Given the description of an element on the screen output the (x, y) to click on. 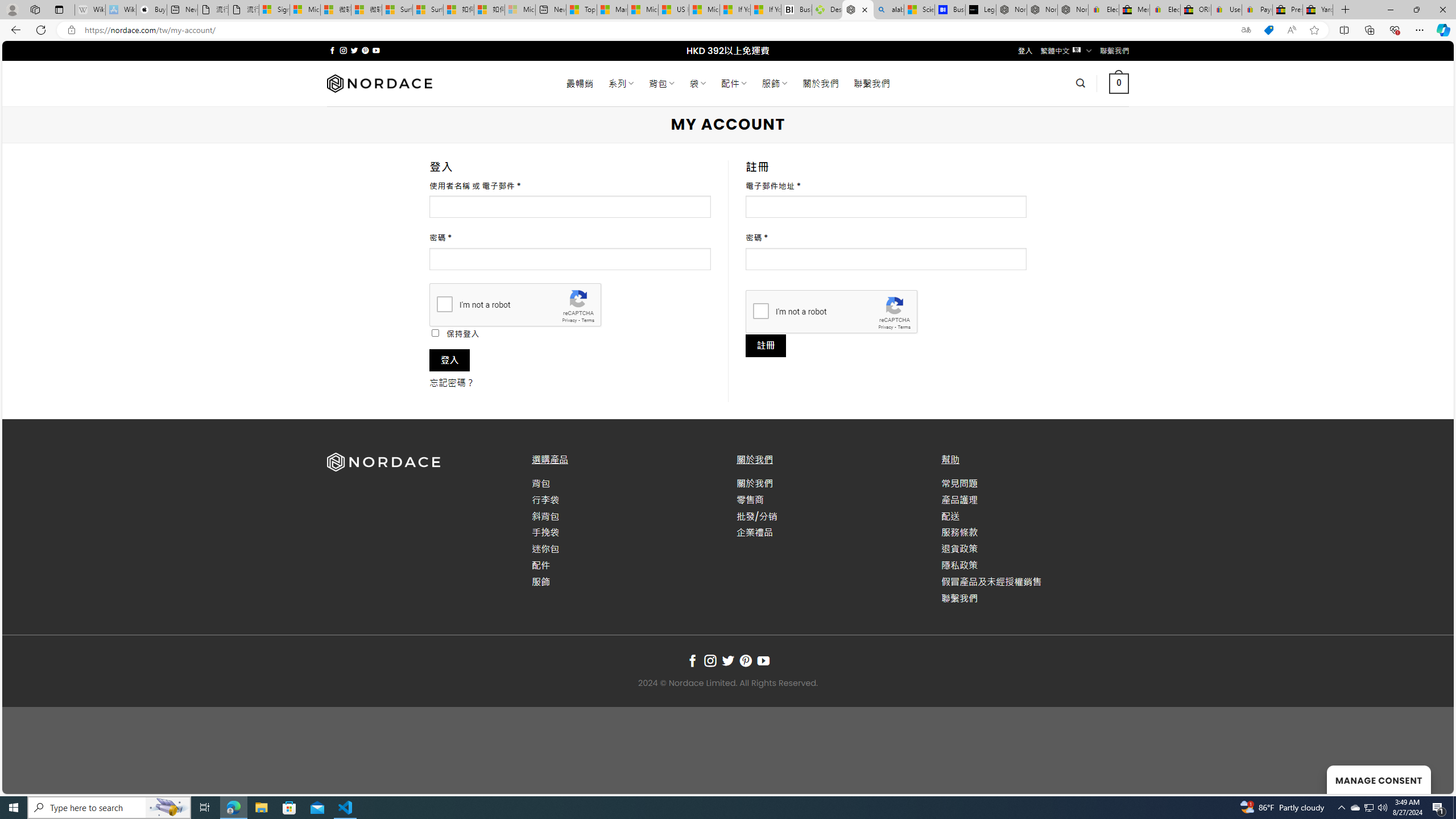
Buy iPad - Apple (151, 9)
Top Stories - MSN (581, 9)
Show translate options (1245, 29)
User Privacy Notice | eBay (1226, 9)
